Given the description of an element on the screen output the (x, y) to click on. 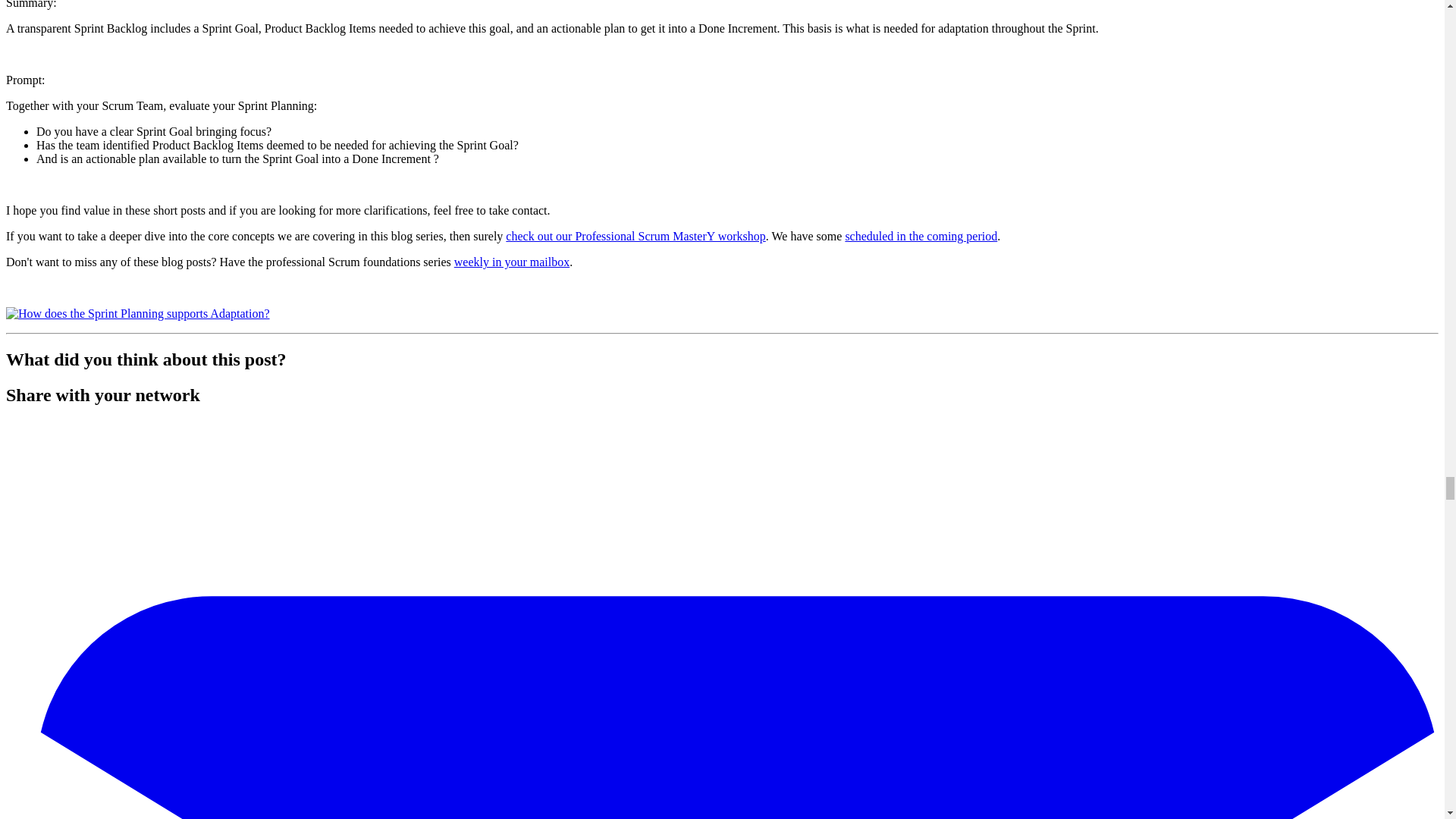
Found out more about the Professional Scrum Mastery workshop (137, 313)
